Given the description of an element on the screen output the (x, y) to click on. 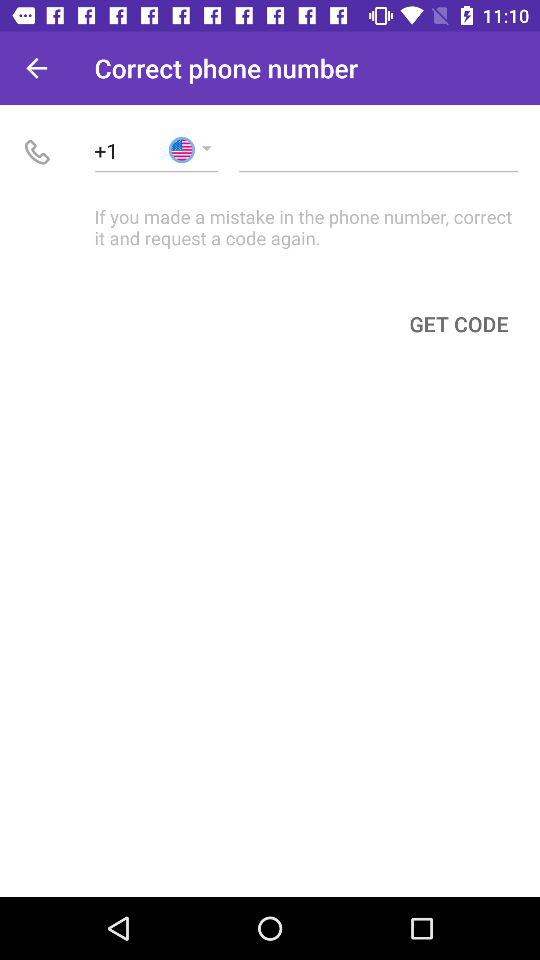
go back (36, 68)
